Given the description of an element on the screen output the (x, y) to click on. 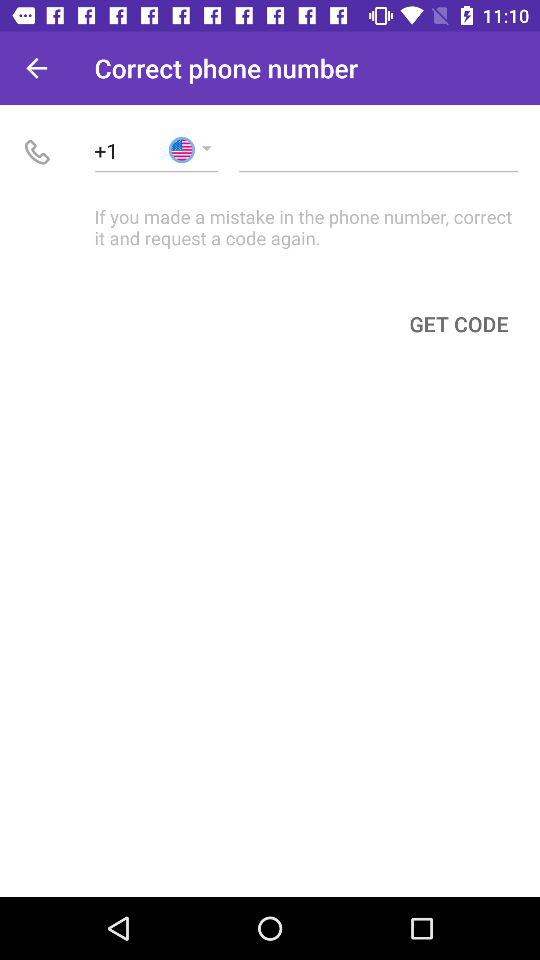
go back (36, 68)
